Given the description of an element on the screen output the (x, y) to click on. 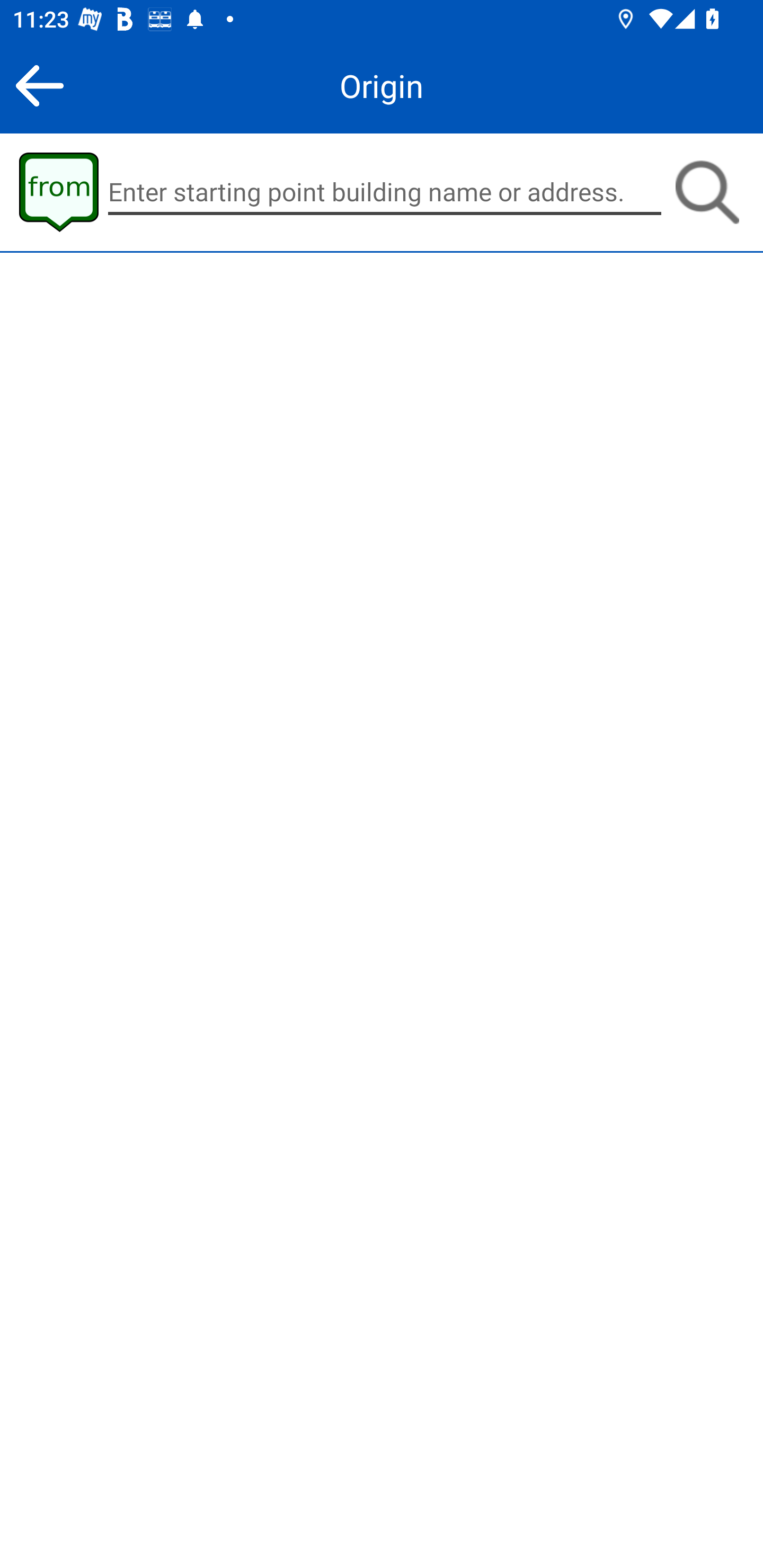
Back (39, 85)
Enter starting point building name or address. (384, 191)
Search (707, 191)
